Given the description of an element on the screen output the (x, y) to click on. 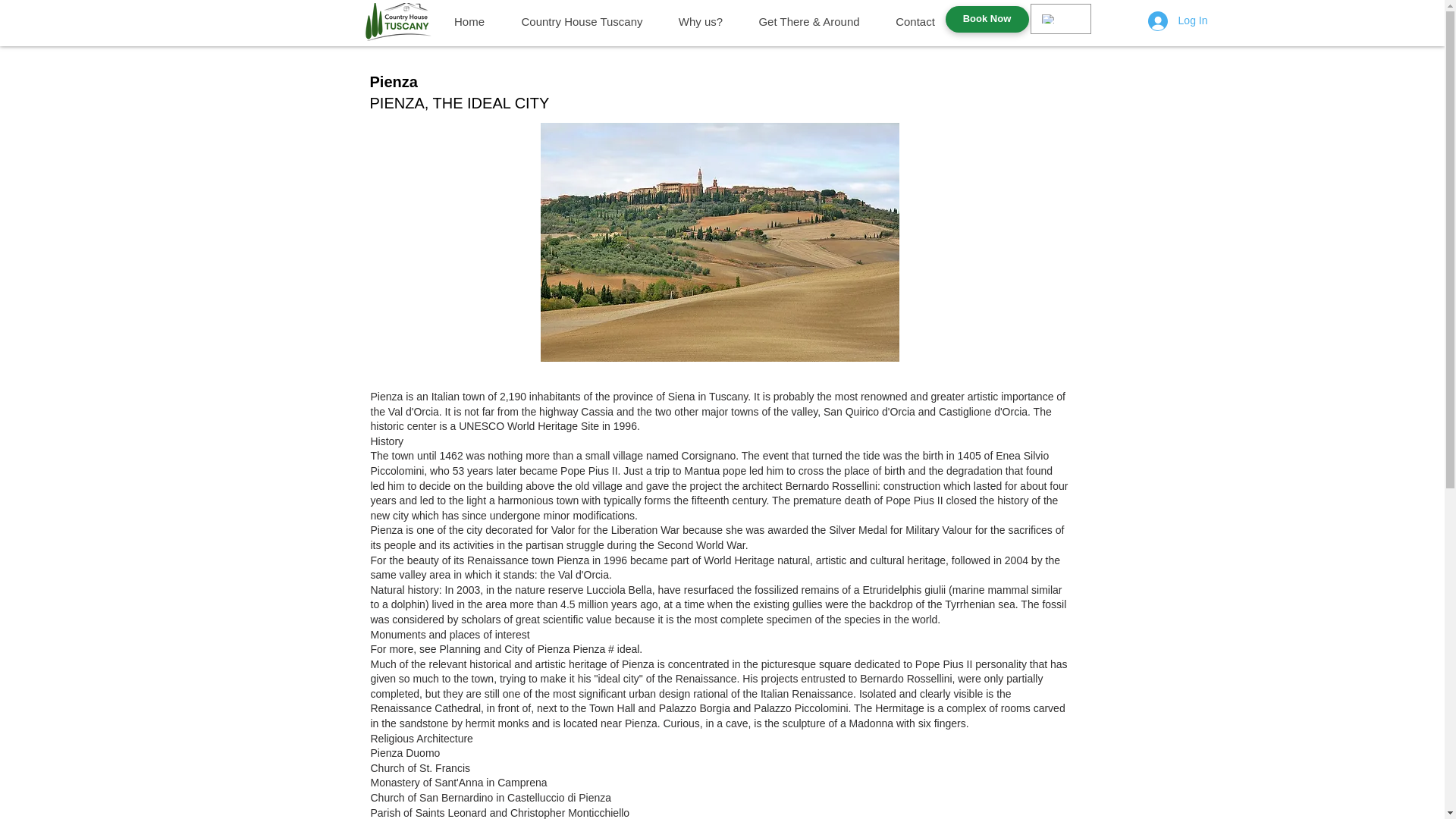
Contact (914, 21)
Log In (1177, 21)
Country House Tuscany (582, 21)
Why us? (699, 21)
Home (468, 21)
proposta-2-rettangolare-colorata.png (397, 21)
Book Now (985, 18)
